Given the description of an element on the screen output the (x, y) to click on. 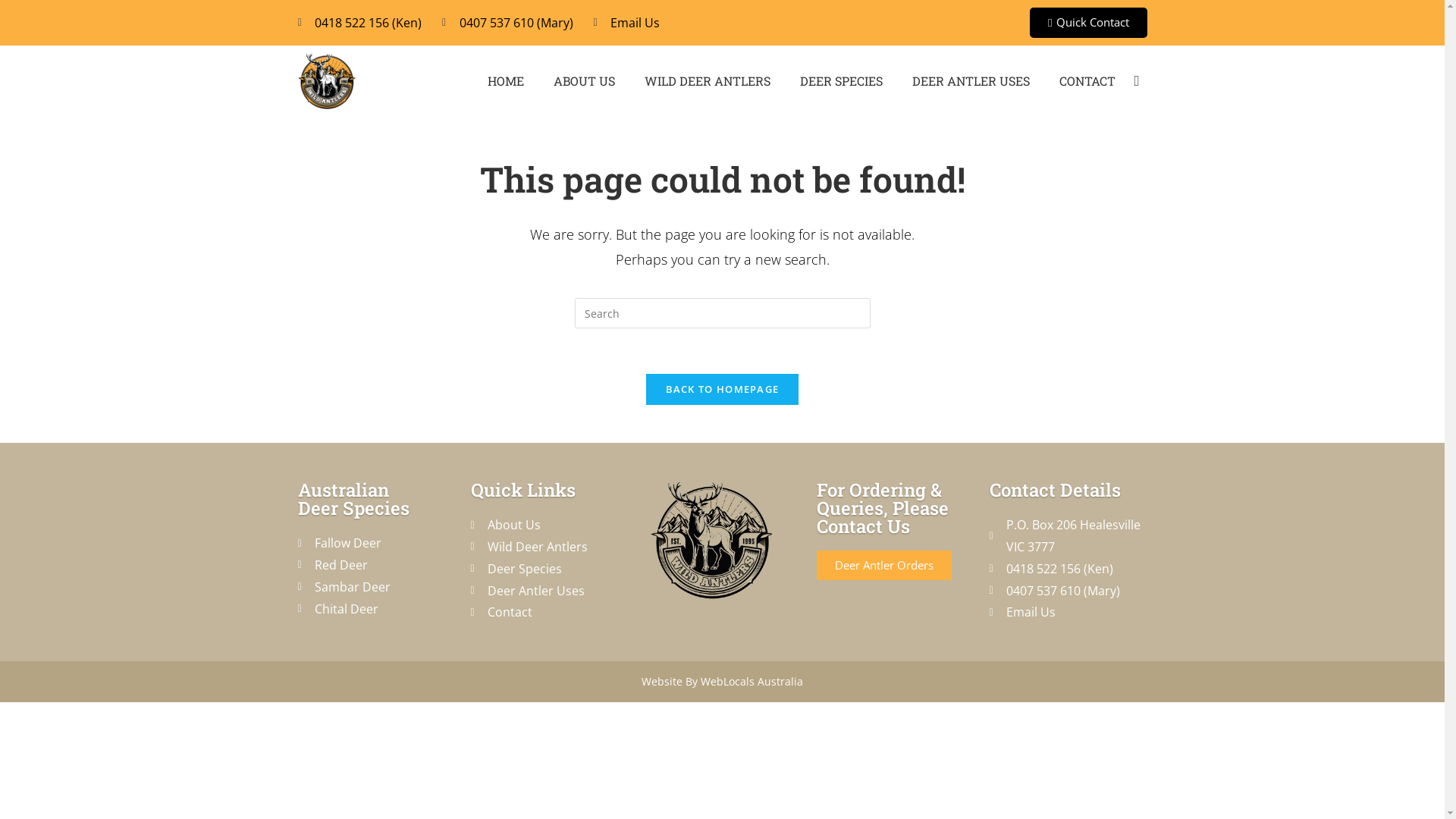
HOME Element type: text (505, 80)
Chital Deer Element type: text (376, 609)
BACK TO HOMEPAGE Element type: text (722, 388)
About Us Element type: text (548, 525)
Fallow Deer Element type: text (376, 543)
Deer Antler Orders Element type: text (882, 565)
Website By WebLocals Australia Element type: text (722, 681)
Deer Species Element type: text (548, 569)
DEER SPECIES Element type: text (841, 80)
0418 522 156 (Ken) Element type: text (1067, 569)
Deer Antler Uses Element type: text (548, 591)
Email Us Element type: text (626, 23)
Quick Contact Element type: text (1087, 22)
Contact Element type: text (548, 612)
0407 537 610 (Mary) Element type: text (1067, 591)
Red Deer Element type: text (376, 565)
0407 537 610 (Mary) Element type: text (507, 23)
DEER ANTLER USES Element type: text (970, 80)
CONTACT Element type: text (1087, 80)
WILD DEER ANTLERS Element type: text (707, 80)
P.O. Box 206 Healesville VIC 3777 Element type: text (1067, 536)
Sambar Deer Element type: text (376, 587)
Wild Deer Antlers Element type: text (548, 547)
ABOUT US Element type: text (584, 80)
Email Us Element type: text (1067, 612)
0418 522 156 (Ken) Element type: text (359, 23)
